Given the description of an element on the screen output the (x, y) to click on. 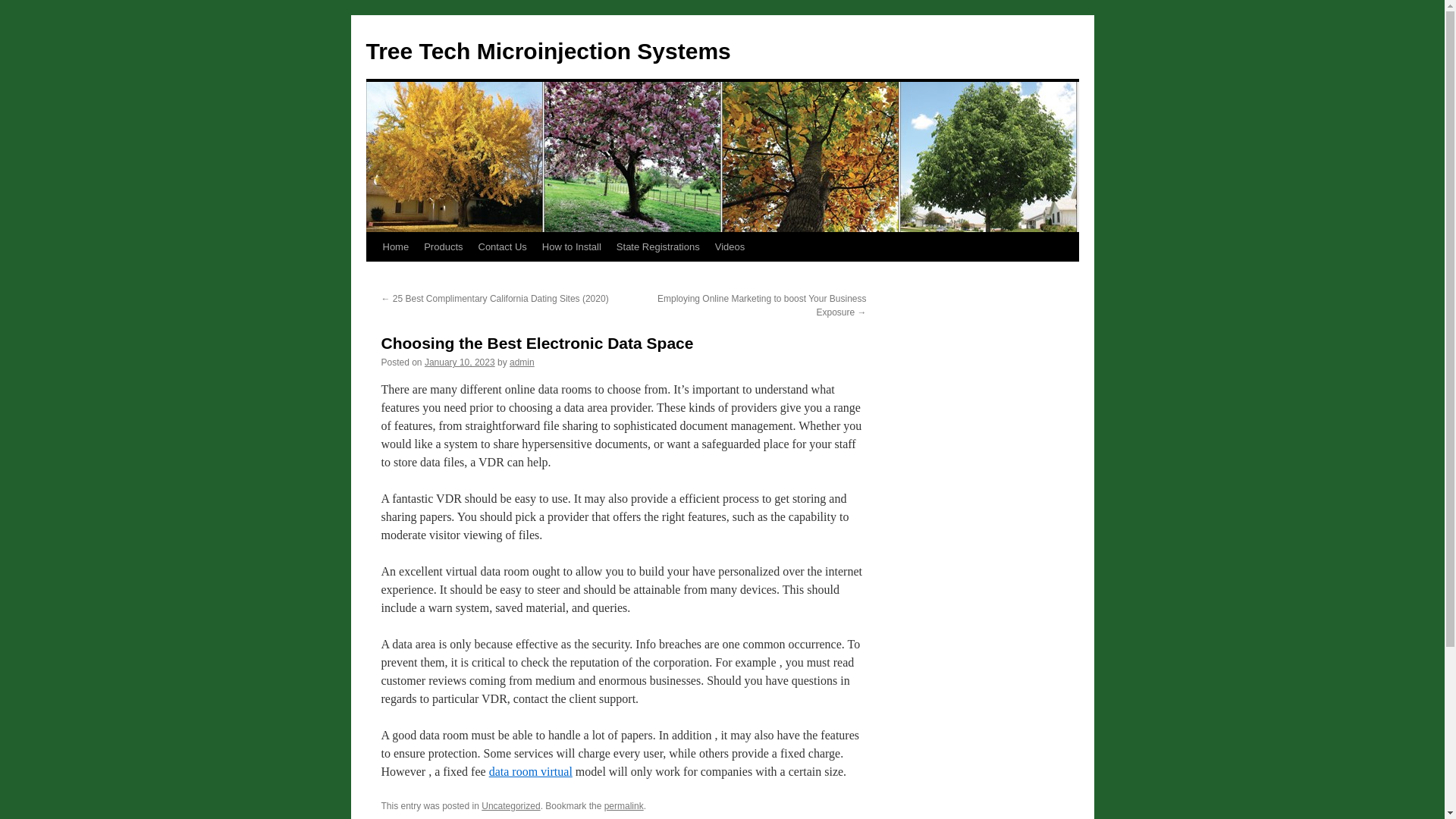
data room virtual (530, 771)
12:00 am (460, 362)
Tree Tech Microinjection Systems (547, 50)
View all posts by admin (521, 362)
Uncategorized (510, 805)
Tree Tech Microinjection Systems (547, 50)
Home (395, 246)
Contact Us (502, 246)
Products (443, 246)
permalink (623, 805)
Videos (729, 246)
January 10, 2023 (460, 362)
Permalink to Choosing the Best Electronic Data Space (623, 805)
State Registrations (657, 246)
admin (521, 362)
